Given the description of an element on the screen output the (x, y) to click on. 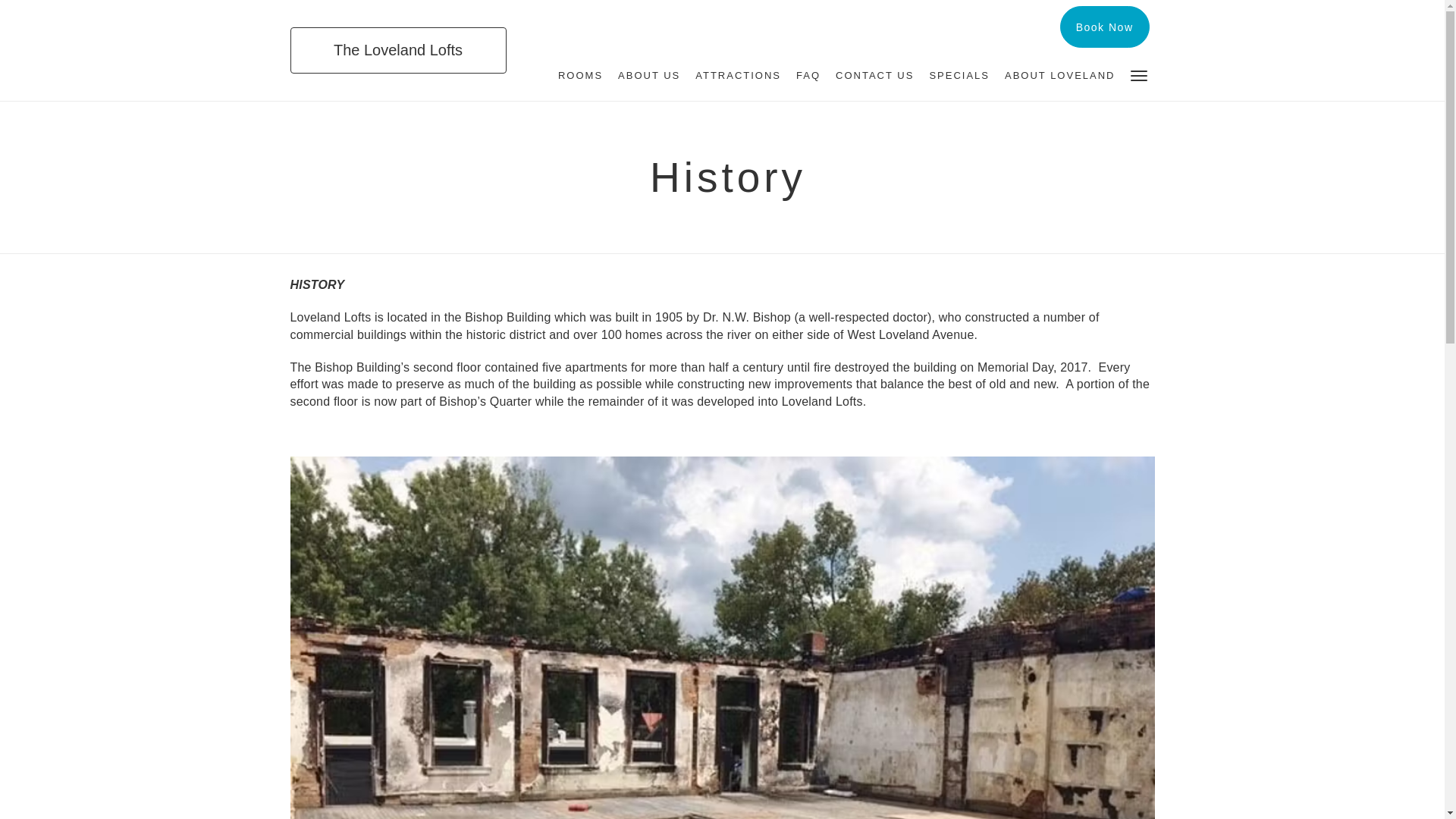
ABOUT US (648, 75)
ABOUT LOVELAND (1059, 75)
The Loveland Lofts (397, 50)
ATTRACTIONS (738, 75)
CONTACT US (874, 75)
SPECIALS (959, 75)
Book Now (1104, 26)
ROOMS (580, 75)
